Given the description of an element on the screen output the (x, y) to click on. 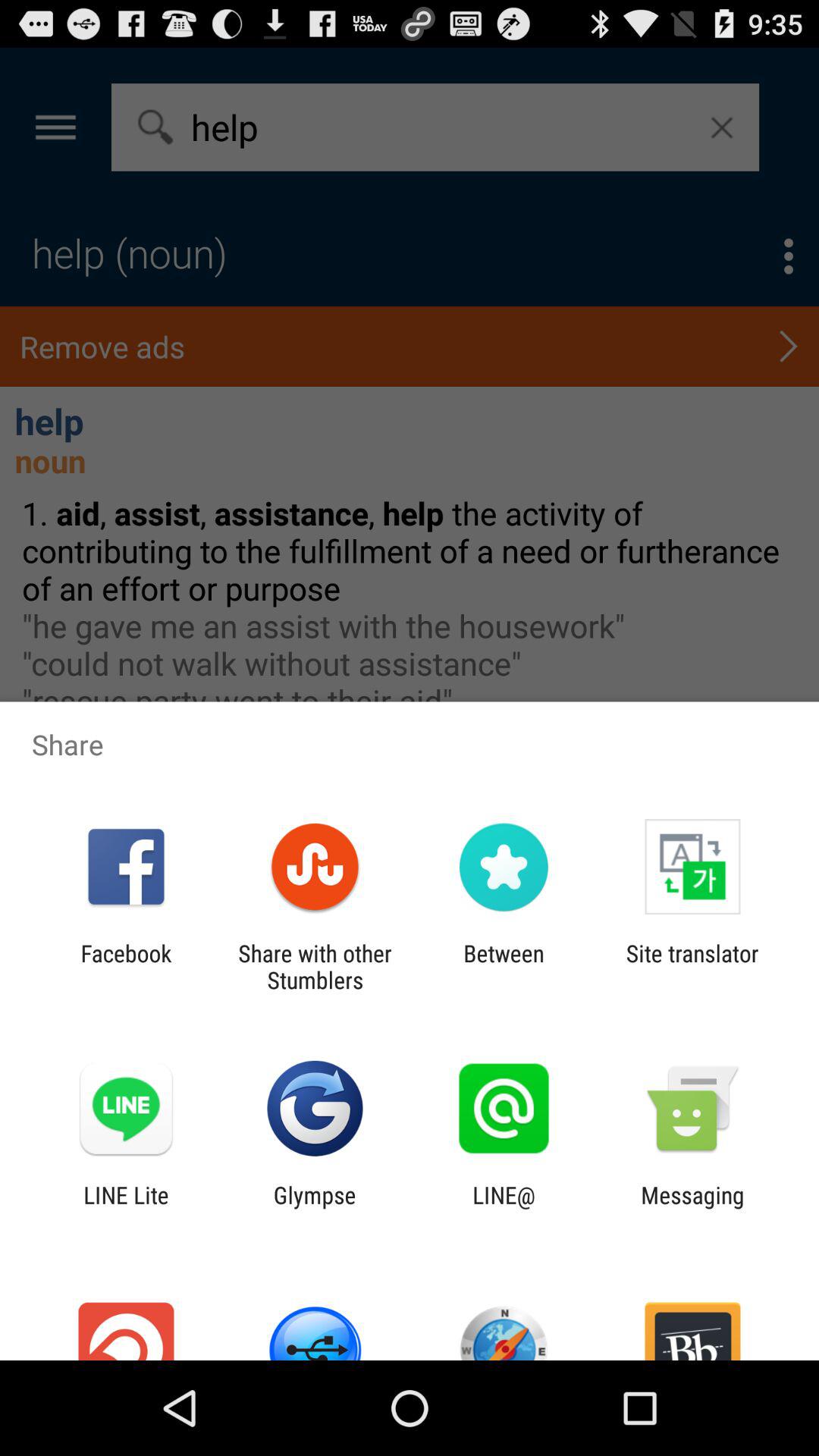
choose the line lite item (125, 1208)
